Given the description of an element on the screen output the (x, y) to click on. 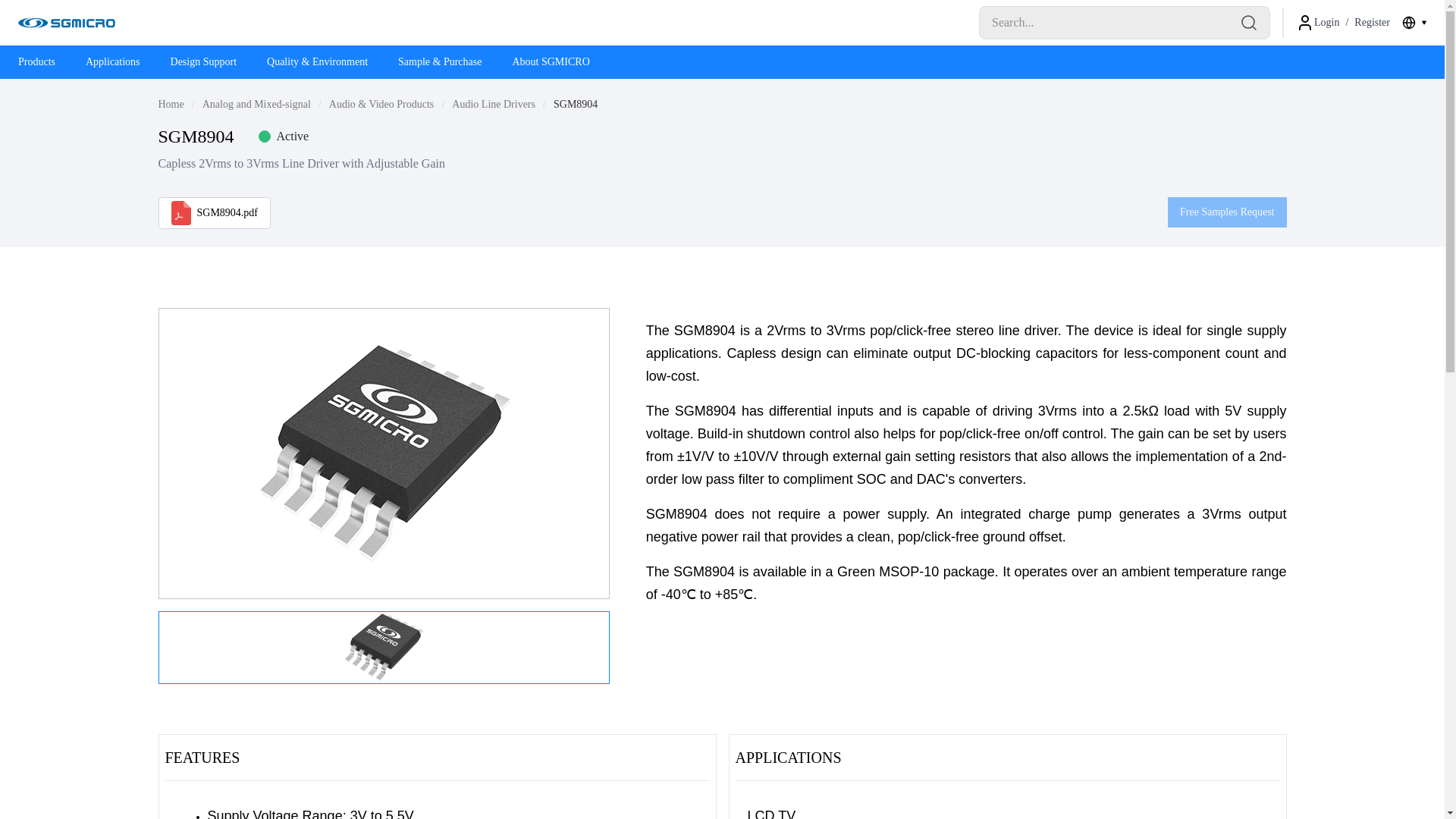
SGM8904.pdf (213, 213)
Home (170, 104)
Free Samples Request (1226, 212)
Register (1372, 22)
Home (66, 22)
Register (1372, 22)
Design Support (203, 63)
Audio Line Drivers (493, 104)
Applications (113, 63)
About SGMICRO (550, 63)
Products (36, 63)
Analog and Mixed-signal (256, 104)
